Given the description of an element on the screen output the (x, y) to click on. 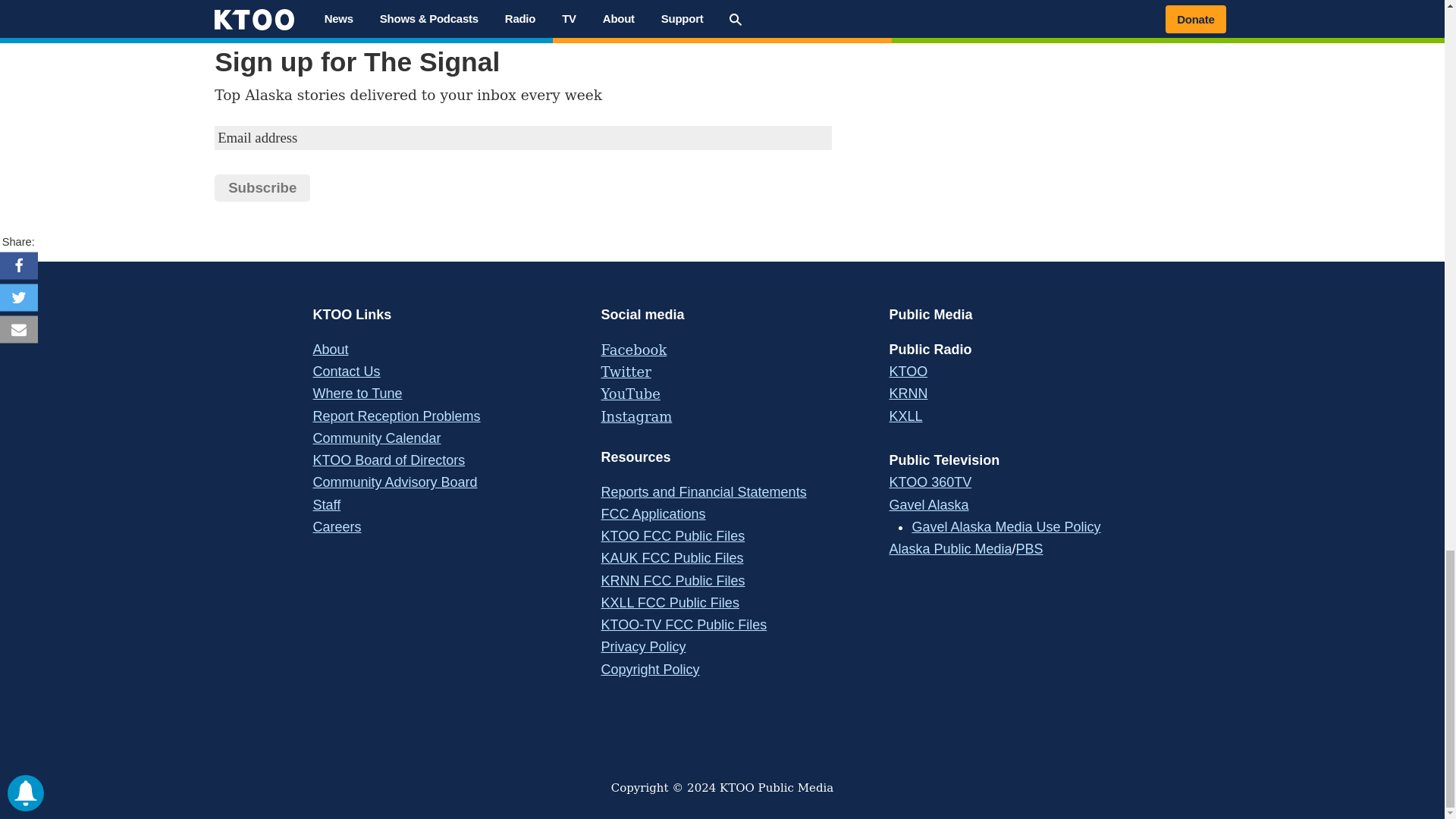
Use the calendar to plan your week (377, 437)
Meet our Board (388, 459)
Join our Team (337, 526)
Fall 2023 Member Drive Bottom of News Story Graphics V.1 (529, 19)
Subscribe (262, 188)
Meet our Team (326, 504)
Learn more about us (330, 349)
Our community advisors (395, 482)
How to find us (396, 416)
We want to hear from you (346, 371)
How to find us (357, 393)
